Given the description of an element on the screen output the (x, y) to click on. 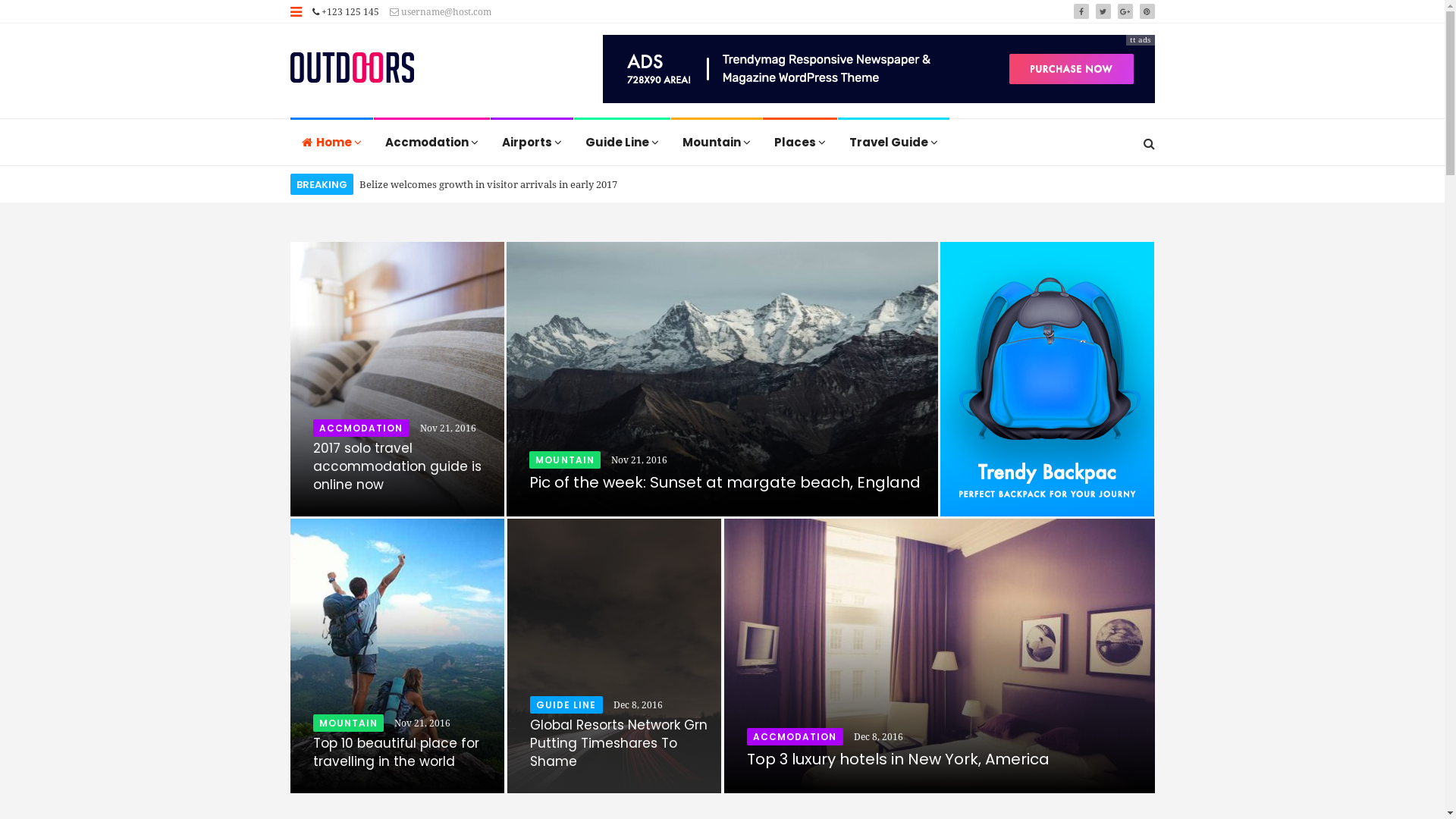
Accmodation Element type: text (431, 142)
username@host.com Element type: text (440, 11)
Global Resorts Network Grn Putting Timeshares To Shame Element type: text (617, 742)
Top 10 beautiful place for travelling in the world Element type: text (395, 752)
MOUNTAIN Element type: text (564, 458)
Travel Guide Element type: text (893, 142)
Guide Line Element type: text (621, 142)
Places Element type: text (799, 142)
ACCMODATION Element type: text (360, 427)
Airports Element type: text (531, 142)
MOUNTAIN Element type: text (347, 722)
2017 solo travel accommodation guide is online now Element type: text (396, 465)
Pic of the week: Sunset at margate beach, England Element type: text (724, 481)
Top 3 luxury hotels in New York, America Element type: text (897, 758)
GUIDE LINE Element type: text (565, 704)
Mountain Element type: text (716, 142)
Home Element type: text (331, 142)
ACCMODATION Element type: text (794, 736)
Mimexiko Element type: hover (351, 68)
